Given the description of an element on the screen output the (x, y) to click on. 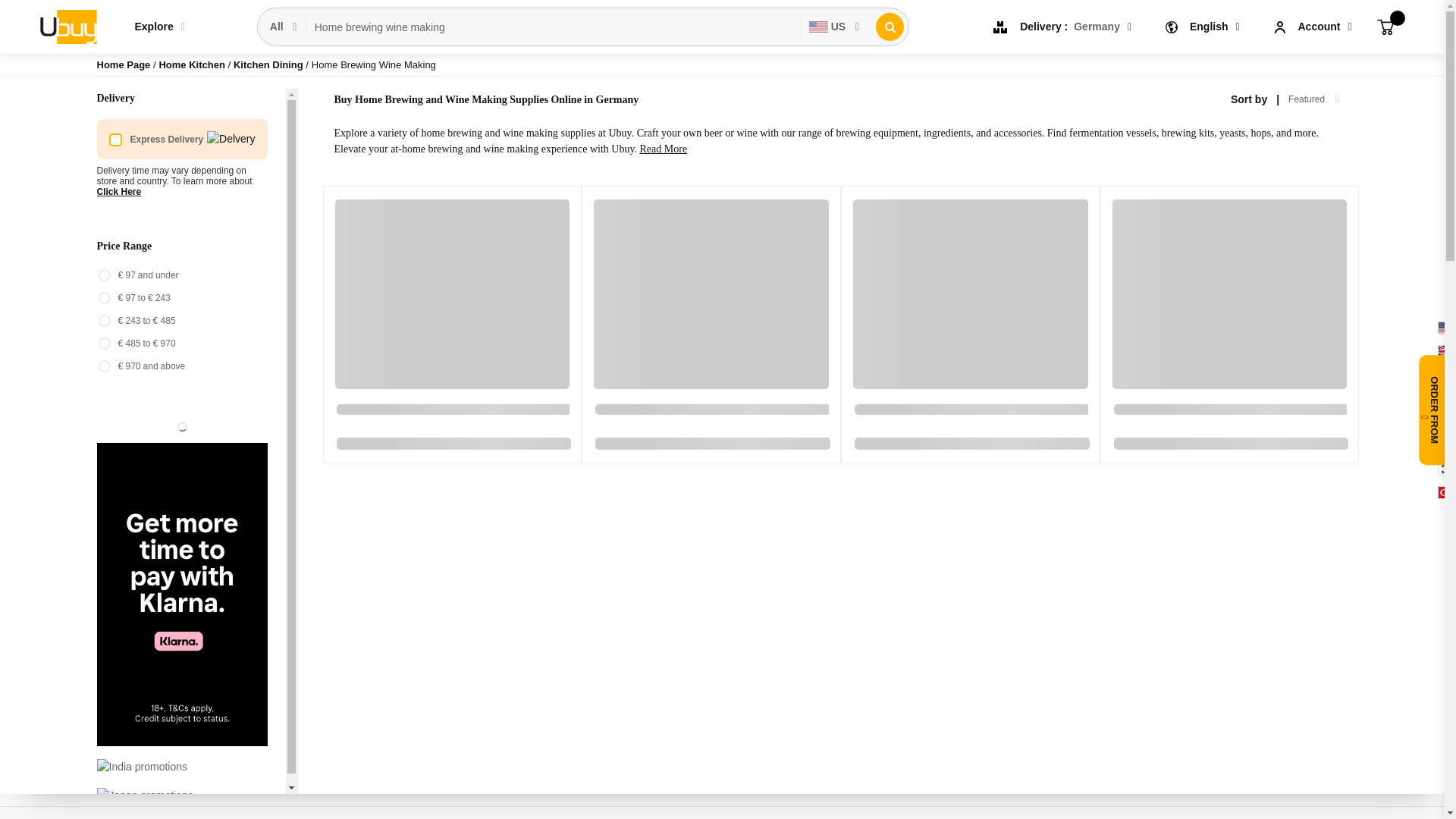
Home brewing wine making (553, 26)
Home Kitchen (192, 64)
All (283, 26)
US (834, 26)
Cart (1385, 26)
Ubuy (67, 26)
Home brewing wine making (553, 26)
Home Page (124, 64)
